Given the description of an element on the screen output the (x, y) to click on. 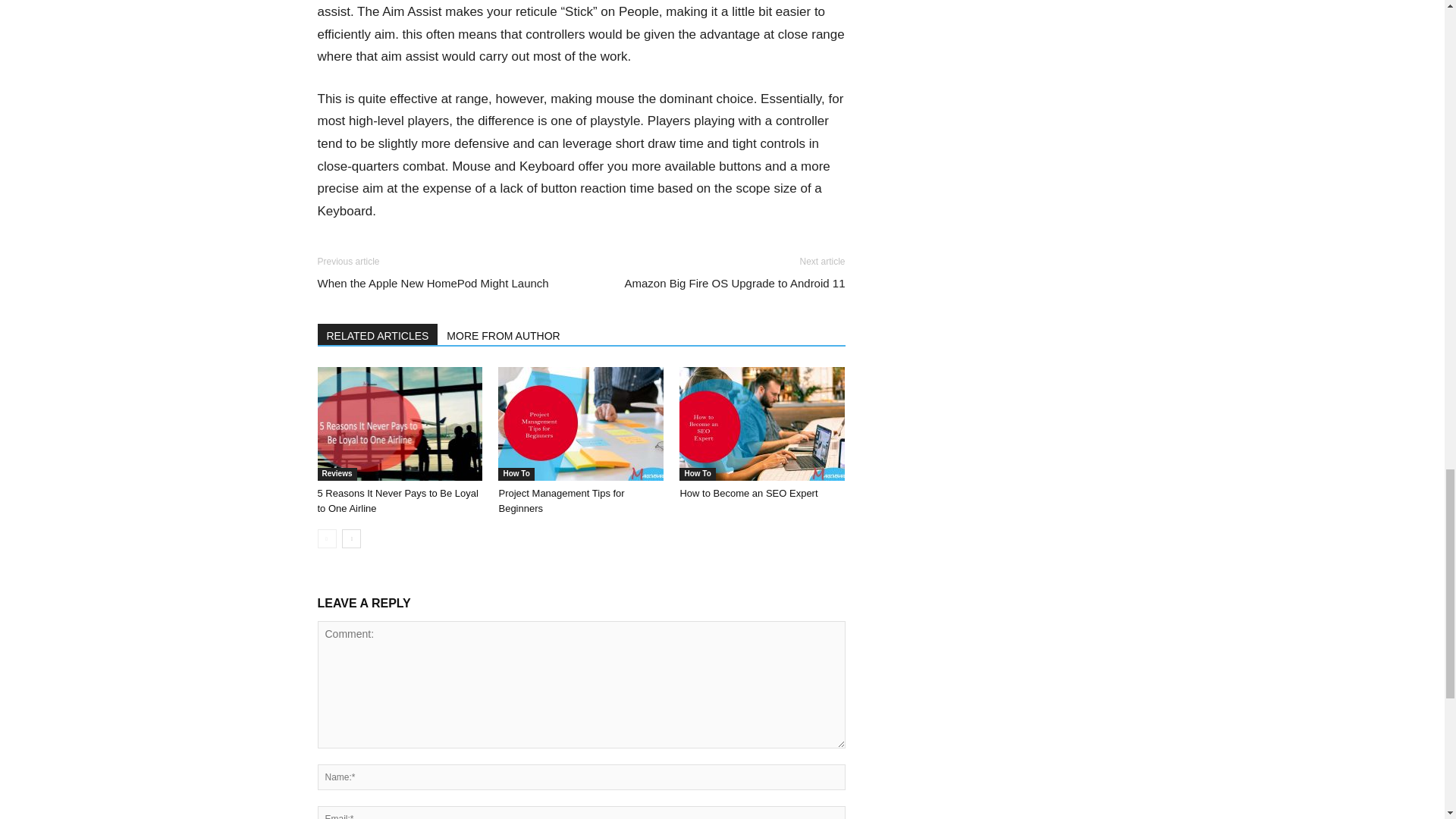
5 Reasons It Never Pays to Be Loyal to One Airline (399, 423)
